Given the description of an element on the screen output the (x, y) to click on. 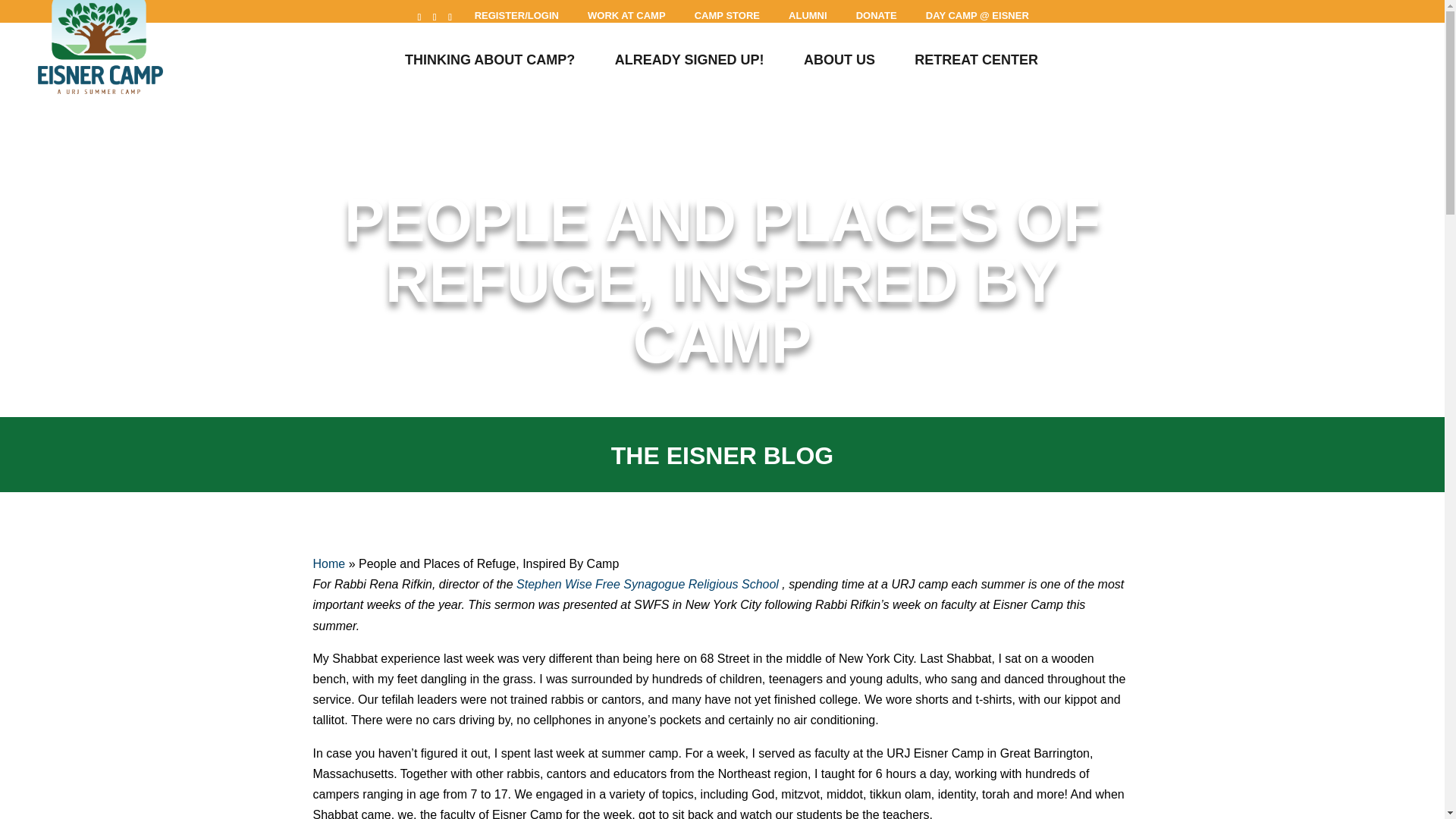
ALUMNI (807, 16)
THINKING ABOUT CAMP? (489, 65)
WORK AT CAMP (625, 16)
Home (329, 563)
RETREAT CENTER (976, 65)
ABOUT US (839, 65)
ALREADY SIGNED UP! (689, 65)
DONATE (876, 16)
CAMP STORE (727, 16)
Stephen Wise Free Synagogue Religious School (647, 584)
